Given the description of an element on the screen output the (x, y) to click on. 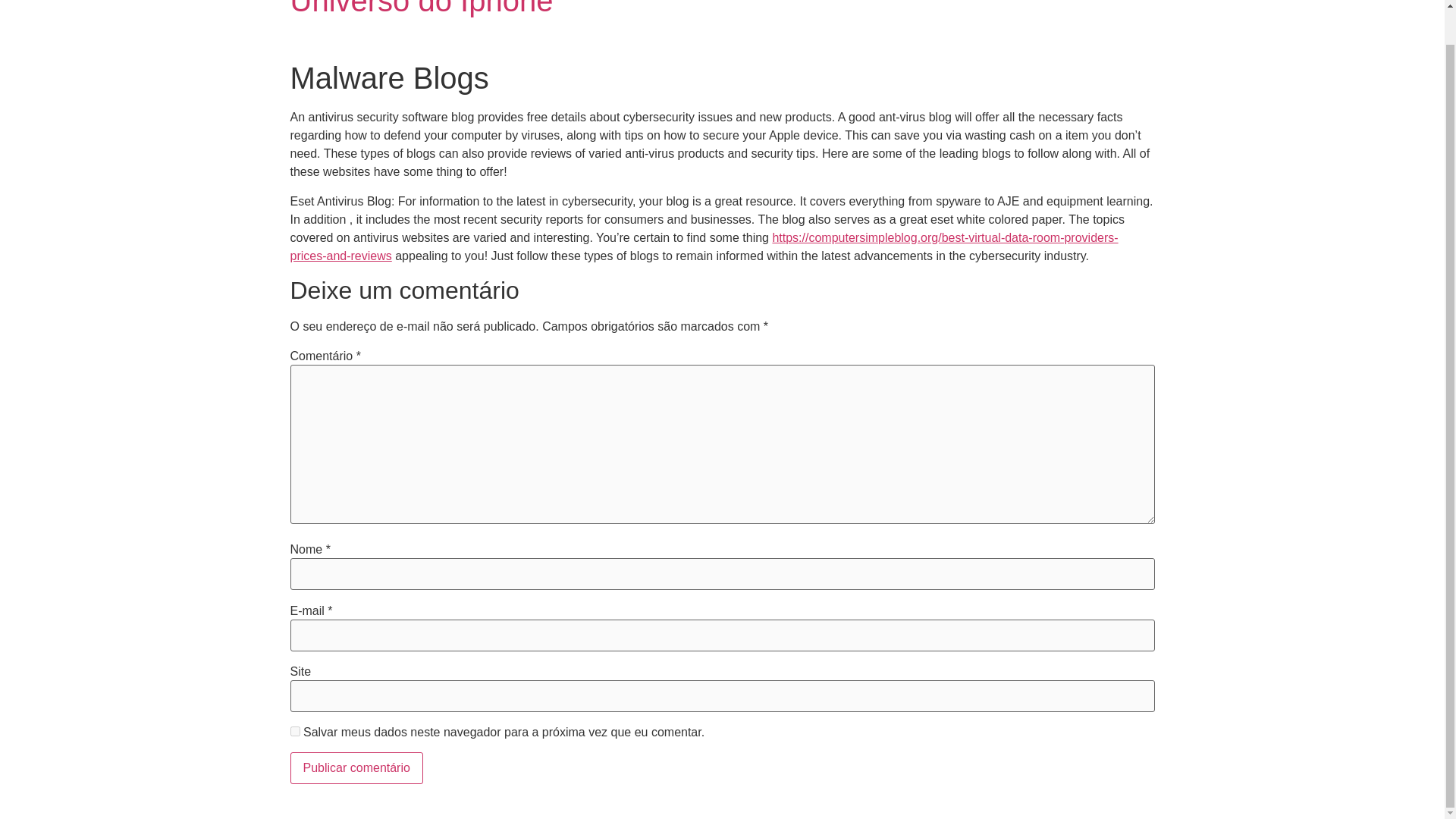
yes (294, 731)
Universo do Iphone (421, 8)
Inicial (421, 8)
